Given the description of an element on the screen output the (x, y) to click on. 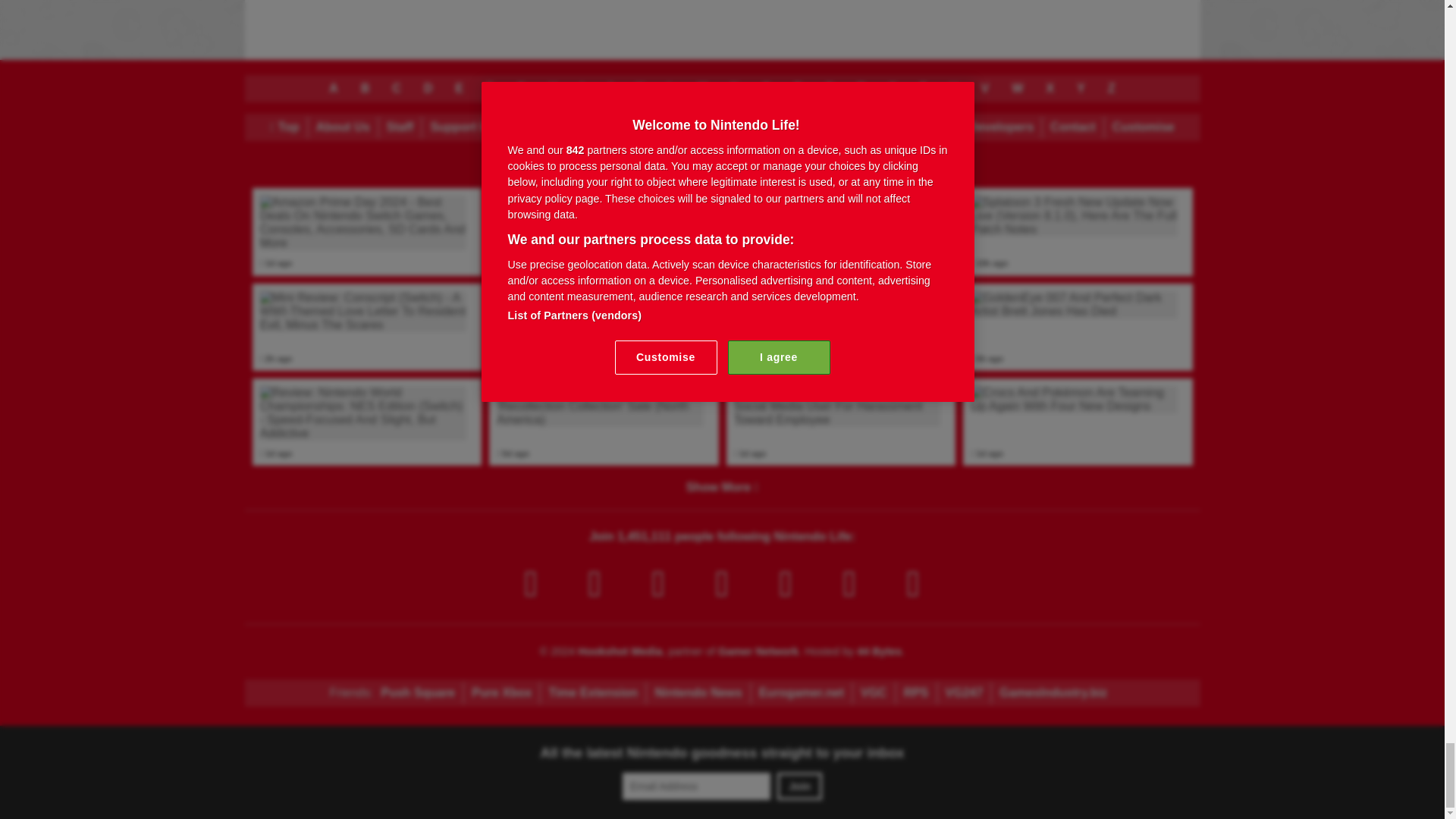
Join (799, 786)
